Given the description of an element on the screen output the (x, y) to click on. 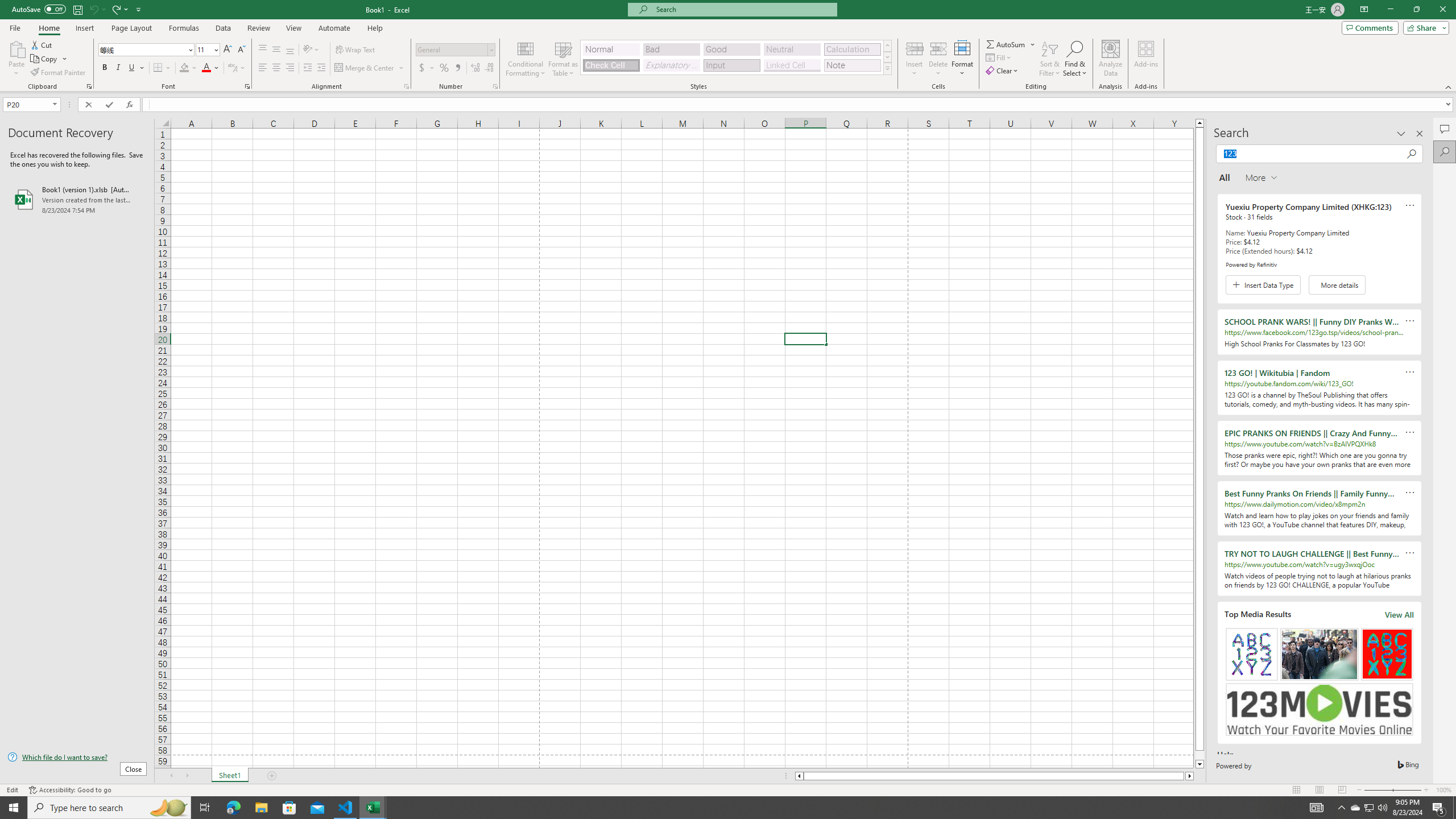
Show Phonetic Field (236, 67)
Find & Select (1075, 58)
Name Box (30, 104)
Linked Cell (791, 65)
Font (147, 49)
Show Phonetic Field (231, 67)
Normal (1296, 790)
Decrease Decimal (489, 67)
Middle Align (276, 49)
Open (54, 104)
Sum (1006, 44)
Task Pane Options (1400, 133)
Column left (798, 775)
Bold (104, 67)
Fill Color (188, 67)
